Given the description of an element on the screen output the (x, y) to click on. 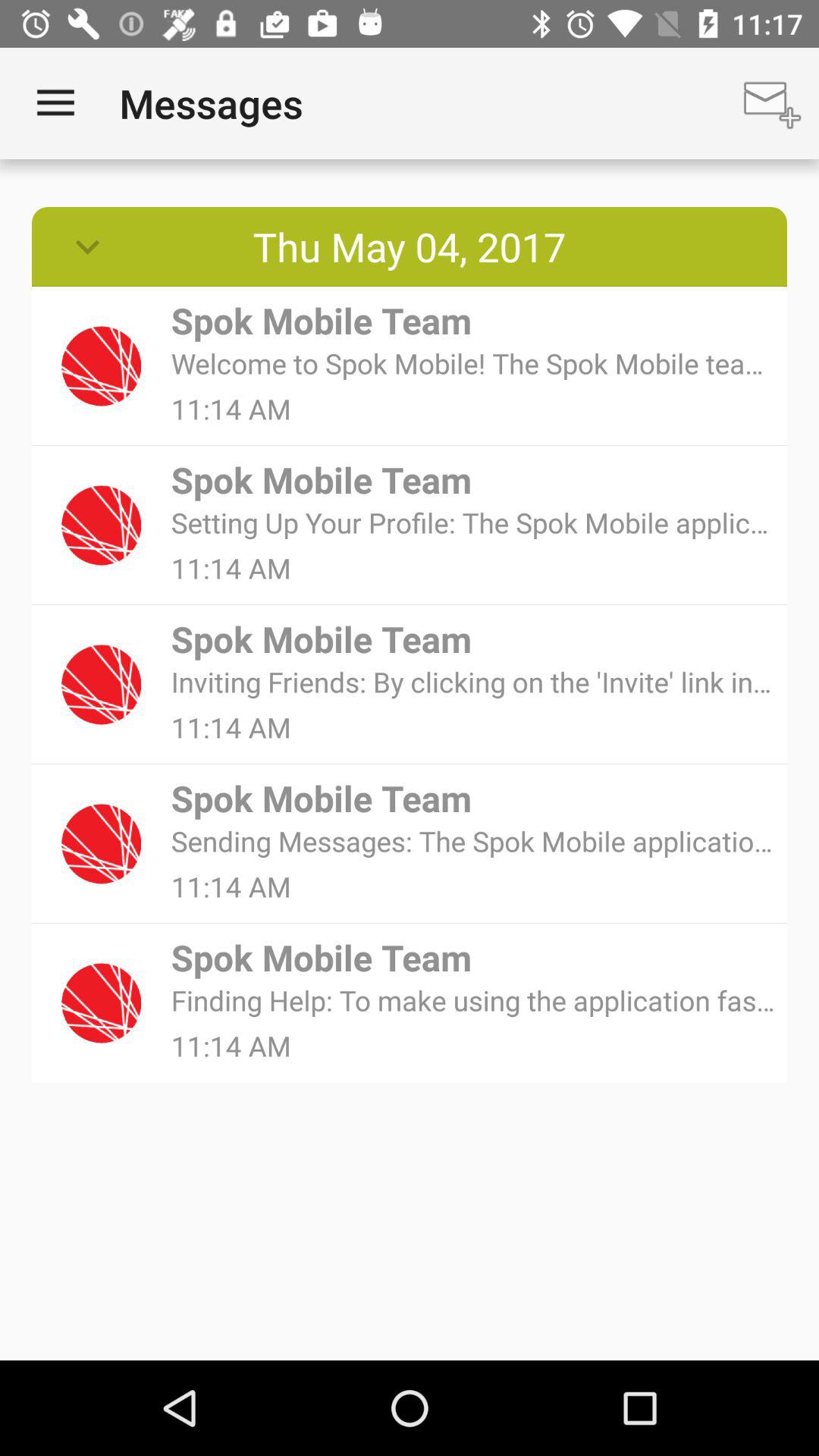
choose the inviting friends by (473, 681)
